Given the description of an element on the screen output the (x, y) to click on. 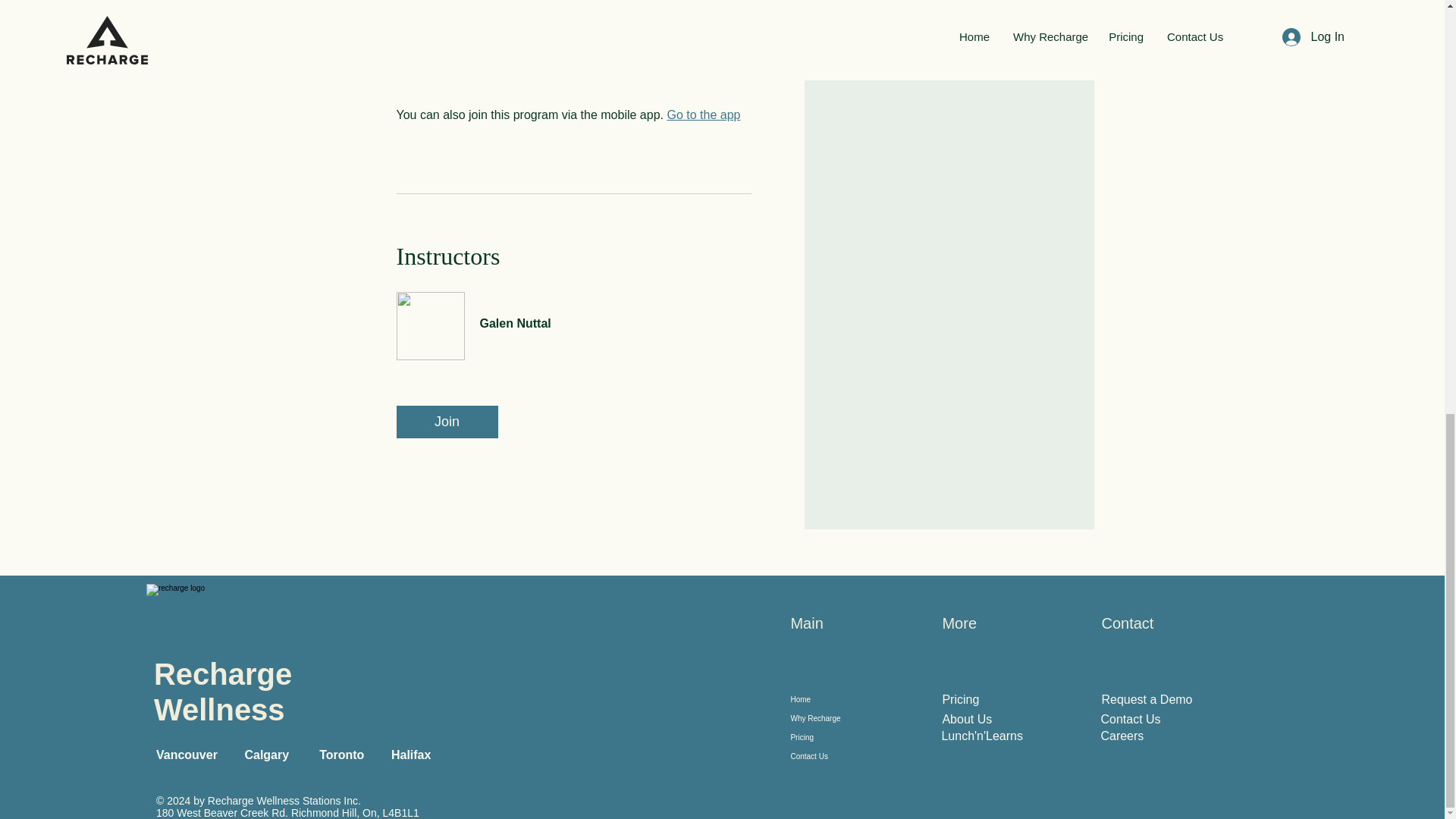
Careers (1121, 735)
Contact Us (836, 755)
Lunch'n'Learns (981, 735)
Join (446, 421)
About Us (966, 718)
Request a Demo (1146, 698)
Contact Us (1130, 718)
Pricing (836, 737)
Pricing (960, 698)
Go to the app (702, 114)
Why Recharge (836, 718)
Home (836, 699)
Galen Nuttal (573, 314)
